Given the description of an element on the screen output the (x, y) to click on. 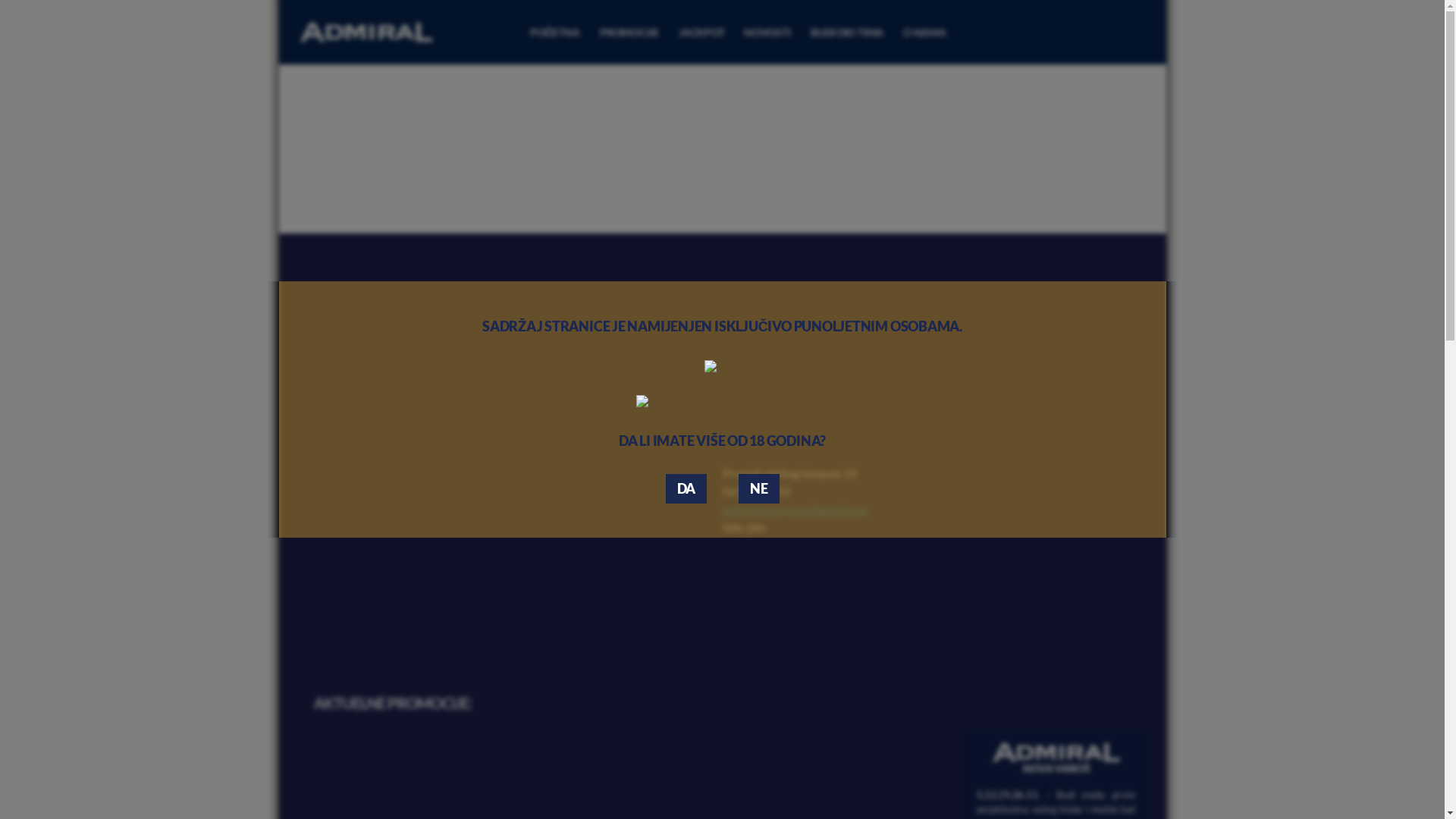
BUDI DIO TIMA Element type: text (847, 32)
admiralnovavaros@gmail.com Element type: text (794, 509)
PROMOCIJE Element type: text (629, 32)
NOVOSTI Element type: text (766, 32)
NE Element type: text (758, 488)
DA Element type: text (686, 488)
JACKPOT Element type: text (701, 32)
O NAMA Element type: text (924, 32)
